Given the description of an element on the screen output the (x, y) to click on. 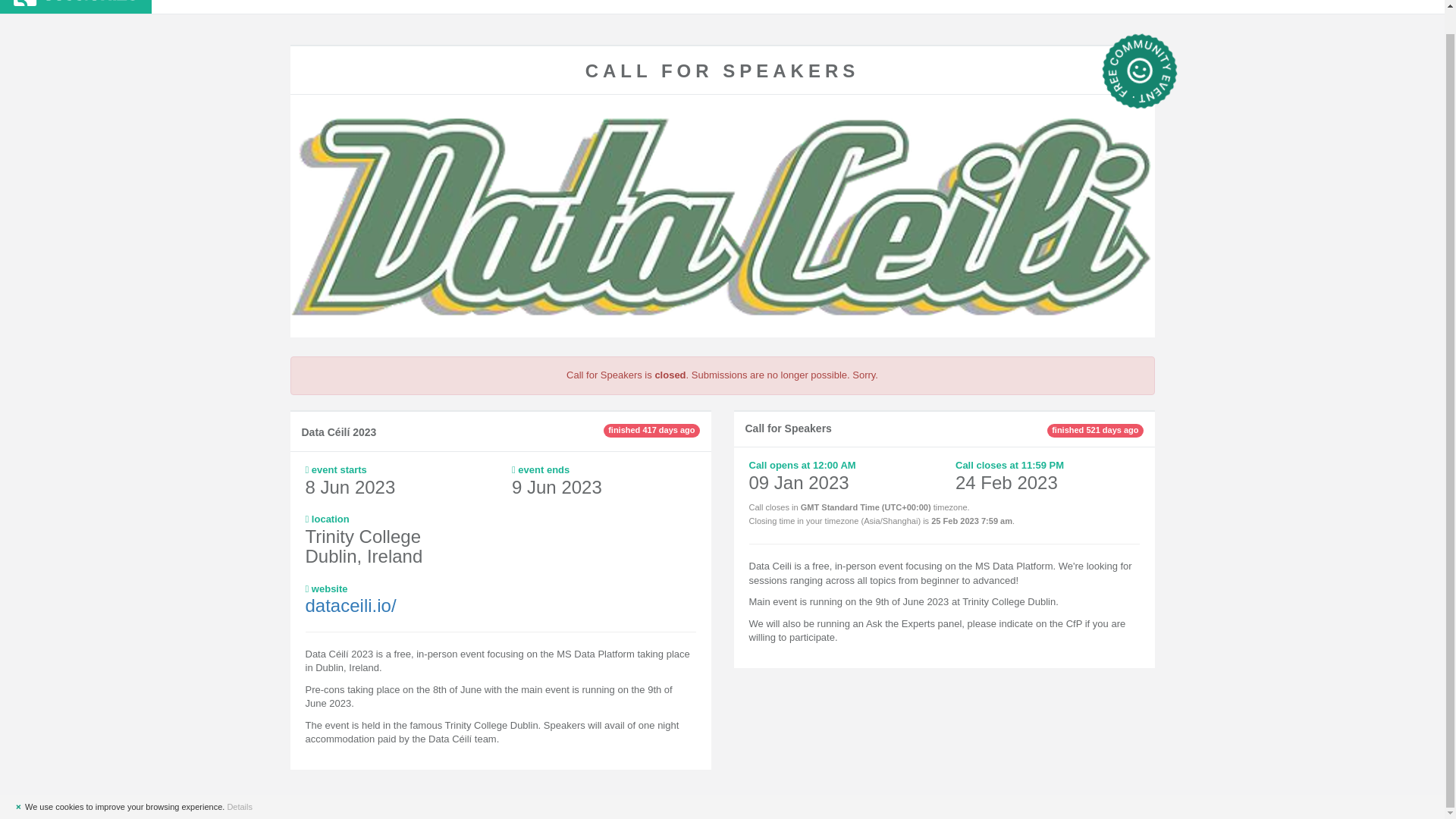
Details (239, 782)
Log in (1399, 6)
Sessionize.com (75, 6)
